Given the description of an element on the screen output the (x, y) to click on. 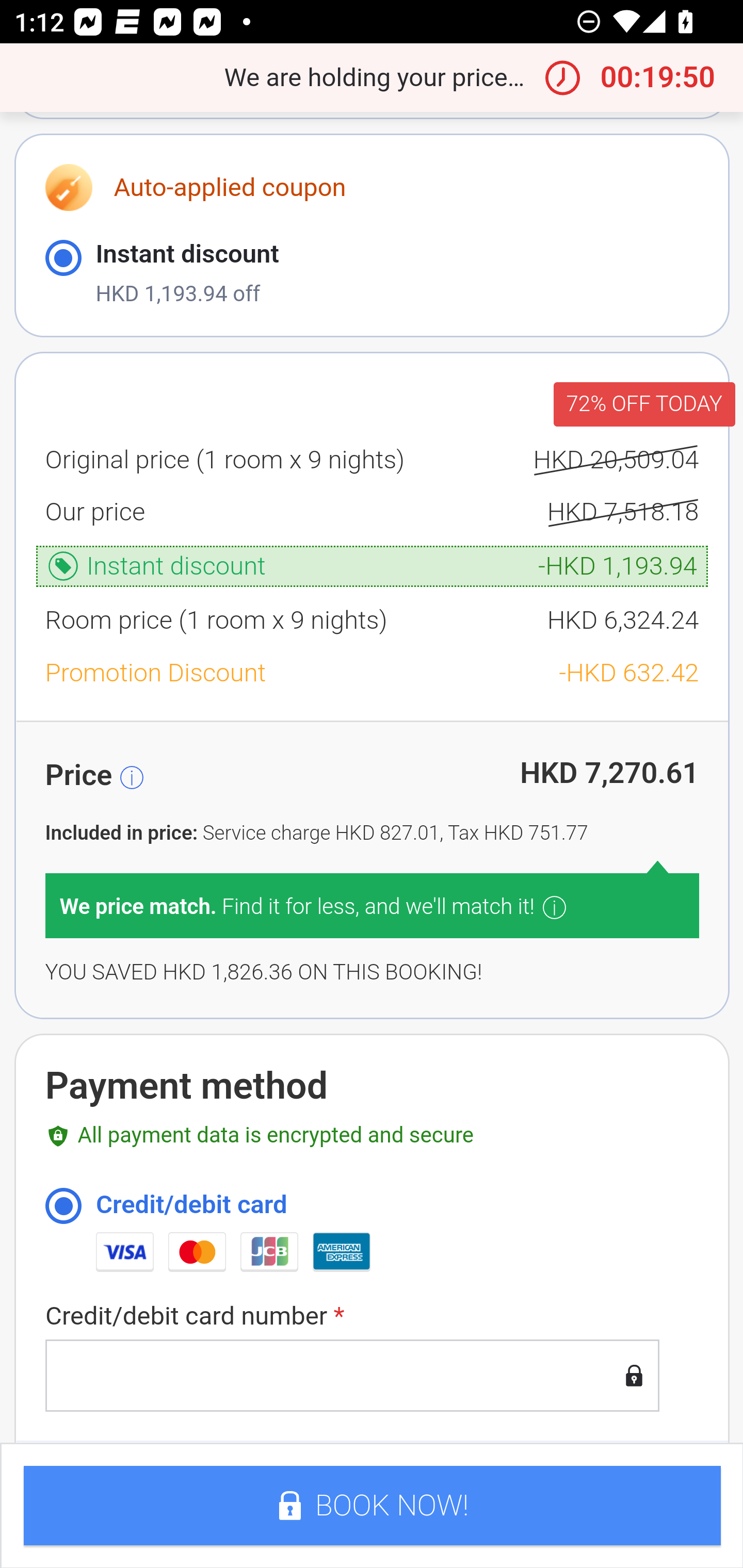
Instant discount HKD 1,193.94 off (371, 273)
Credit/debit card (63, 1207)
Visa MasterCard JCB American Express (396, 1251)
BOOK NOW! (371, 1506)
